Given the description of an element on the screen output the (x, y) to click on. 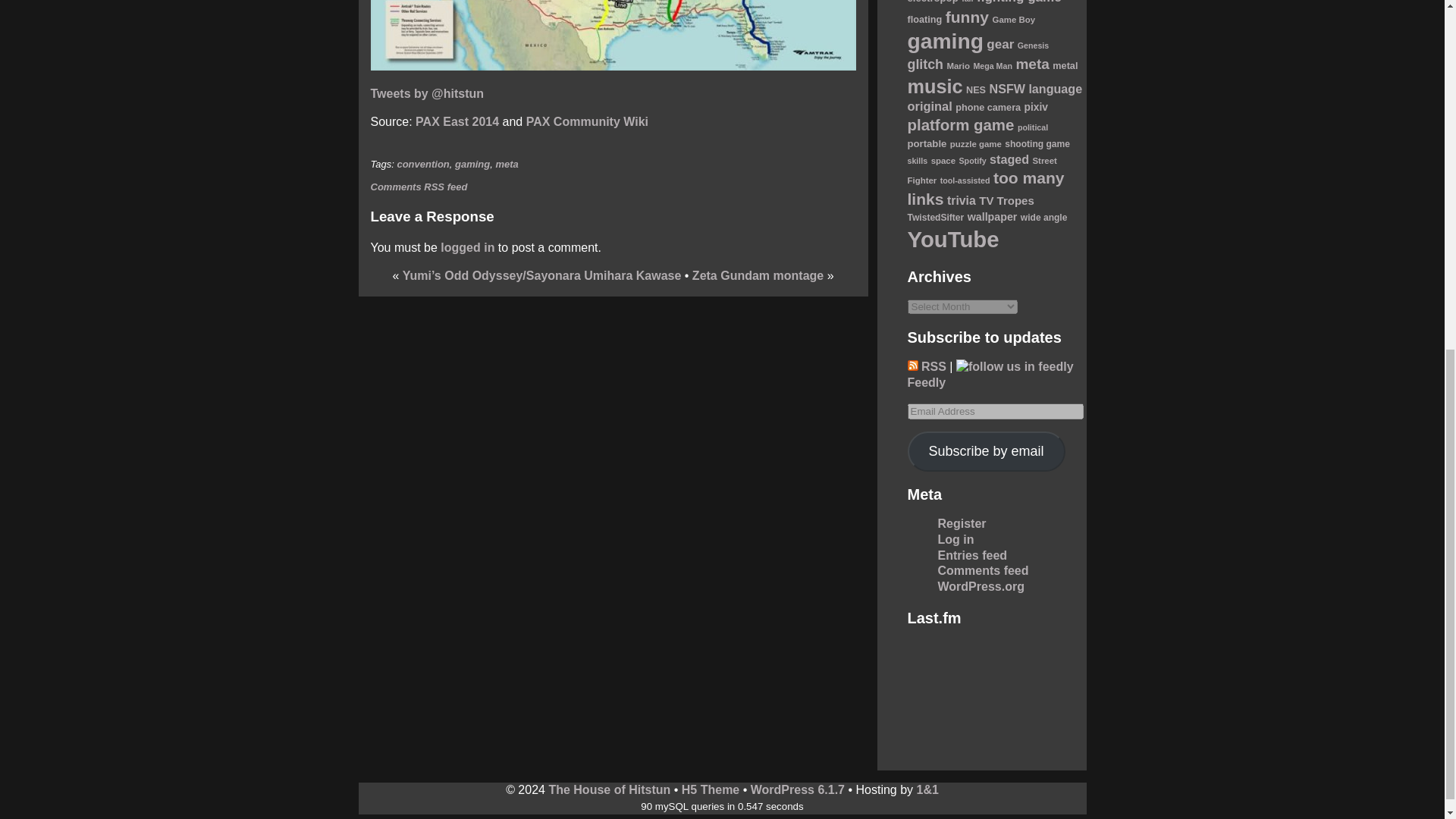
Comments RSS feed (418, 186)
The House of Hitstun (608, 789)
PAX East 2014 (456, 121)
meta (506, 163)
gaming (471, 163)
convention (422, 163)
logged in (468, 246)
PAX Community Wiki (586, 121)
